Given the description of an element on the screen output the (x, y) to click on. 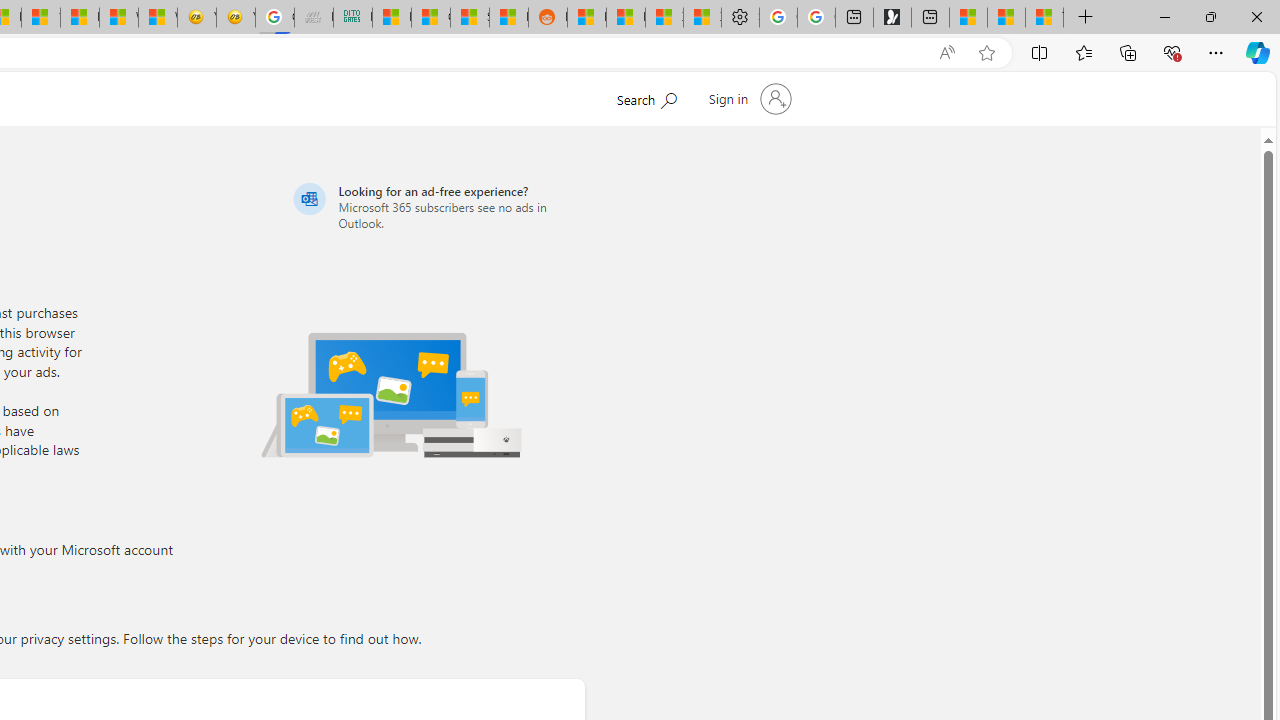
Looking for an ad-free experience? (436, 206)
